Given the description of an element on the screen output the (x, y) to click on. 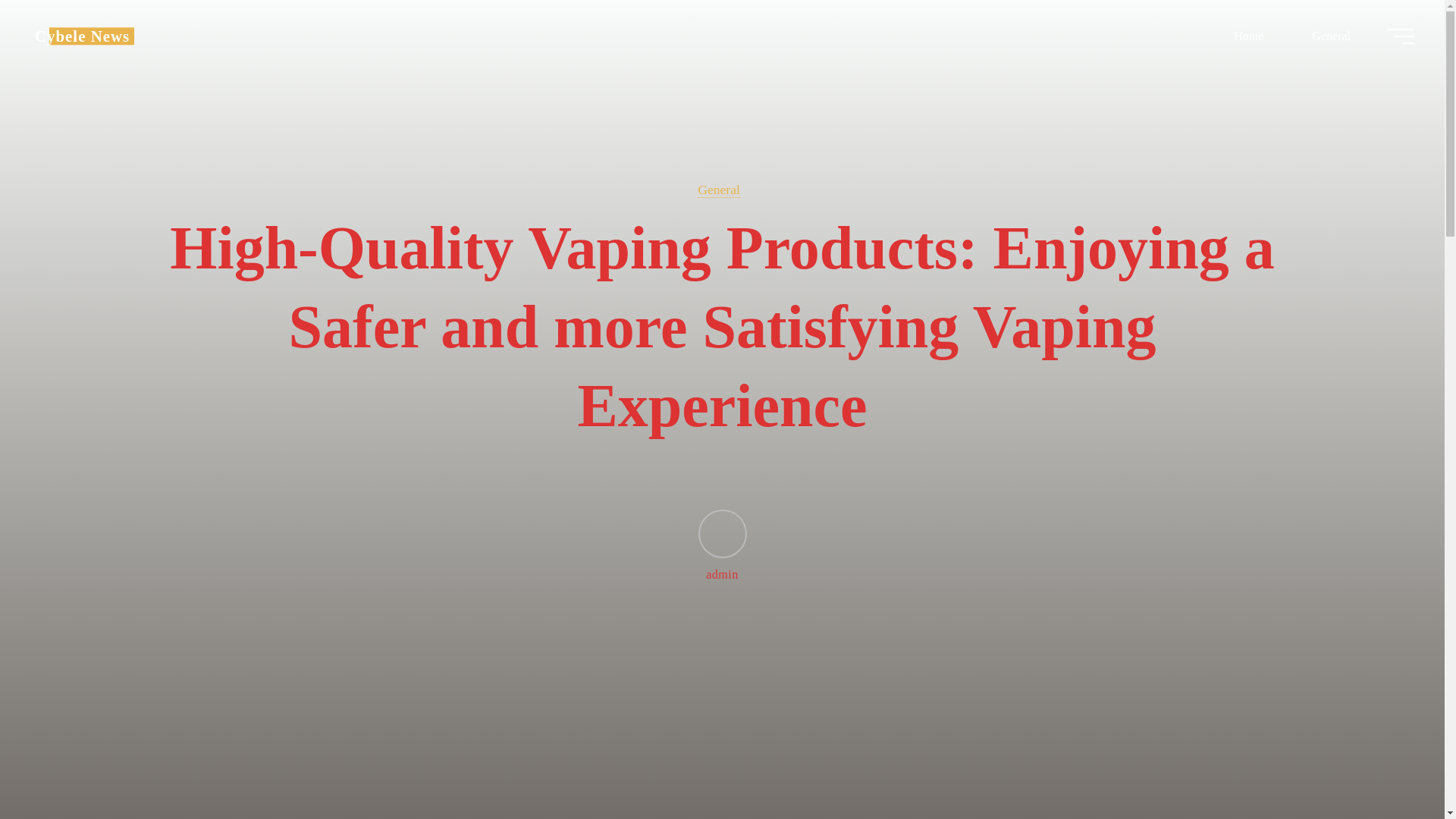
Blog (81, 36)
General (718, 189)
General (1330, 35)
Read more (721, 724)
Cybele News (81, 36)
Home (1248, 35)
